Given the description of an element on the screen output the (x, y) to click on. 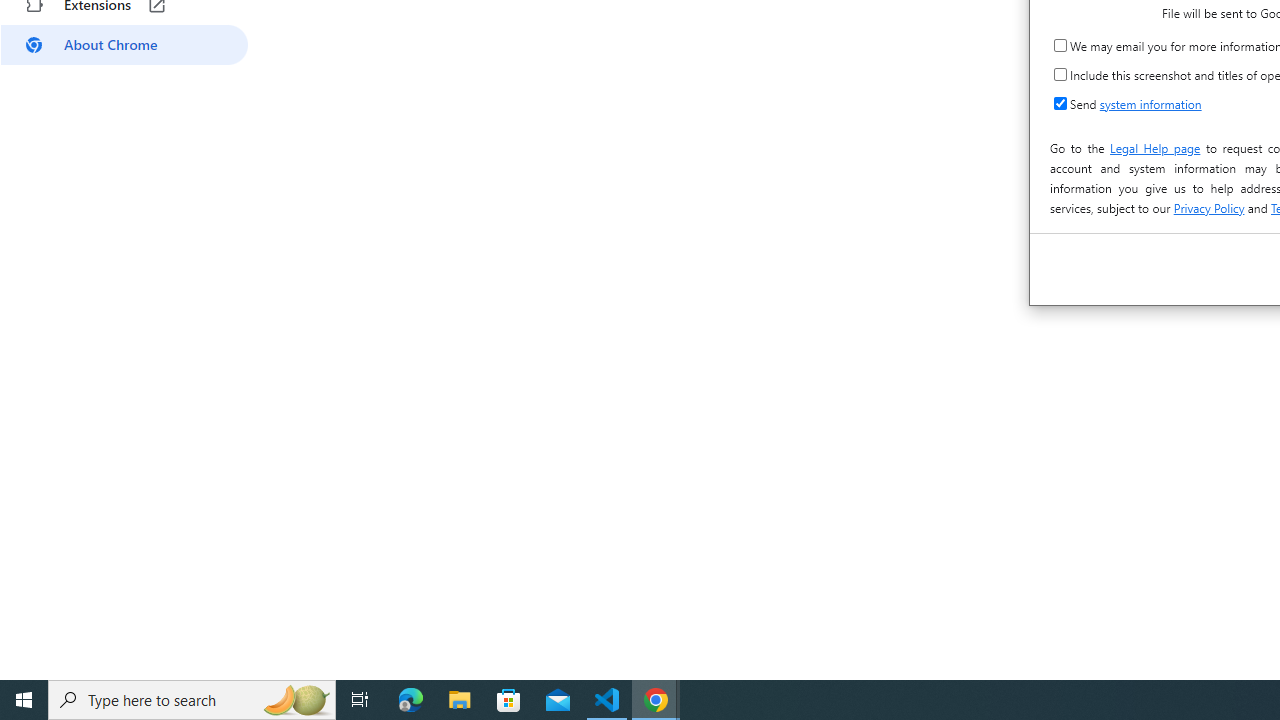
We may email you for more information or updates (1060, 44)
Include this screenshot and titles of open tabs (1060, 73)
Type here to search (191, 699)
Start (24, 699)
Legal Help page (1154, 147)
Microsoft Edge (411, 699)
Google Chrome - 2 running windows (656, 699)
Send system information (1060, 103)
Visual Studio Code - 1 running window (607, 699)
File Explorer (460, 699)
Search highlights icon opens search home window (295, 699)
Task View (359, 699)
Microsoft Store (509, 699)
